Given the description of an element on the screen output the (x, y) to click on. 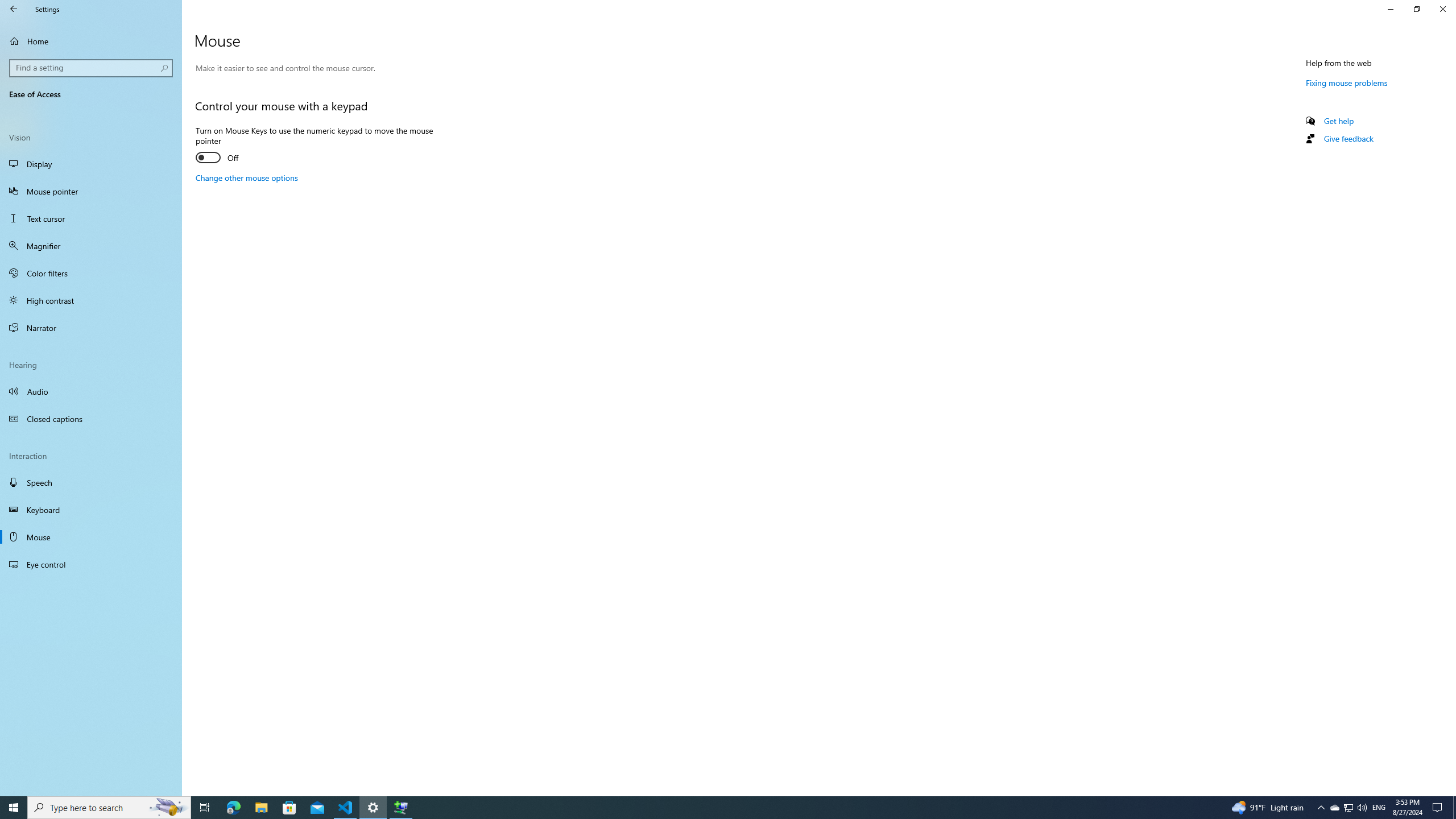
Display (91, 163)
Give feedback (1348, 138)
Audio (91, 390)
Closed captions (91, 418)
Extensible Wizards Host Process - 1 running window (400, 807)
Running applications (706, 807)
Settings - 1 running window (373, 807)
Mouse (91, 536)
Keyboard (91, 509)
Color filters (91, 272)
Home (91, 40)
